Given the description of an element on the screen output the (x, y) to click on. 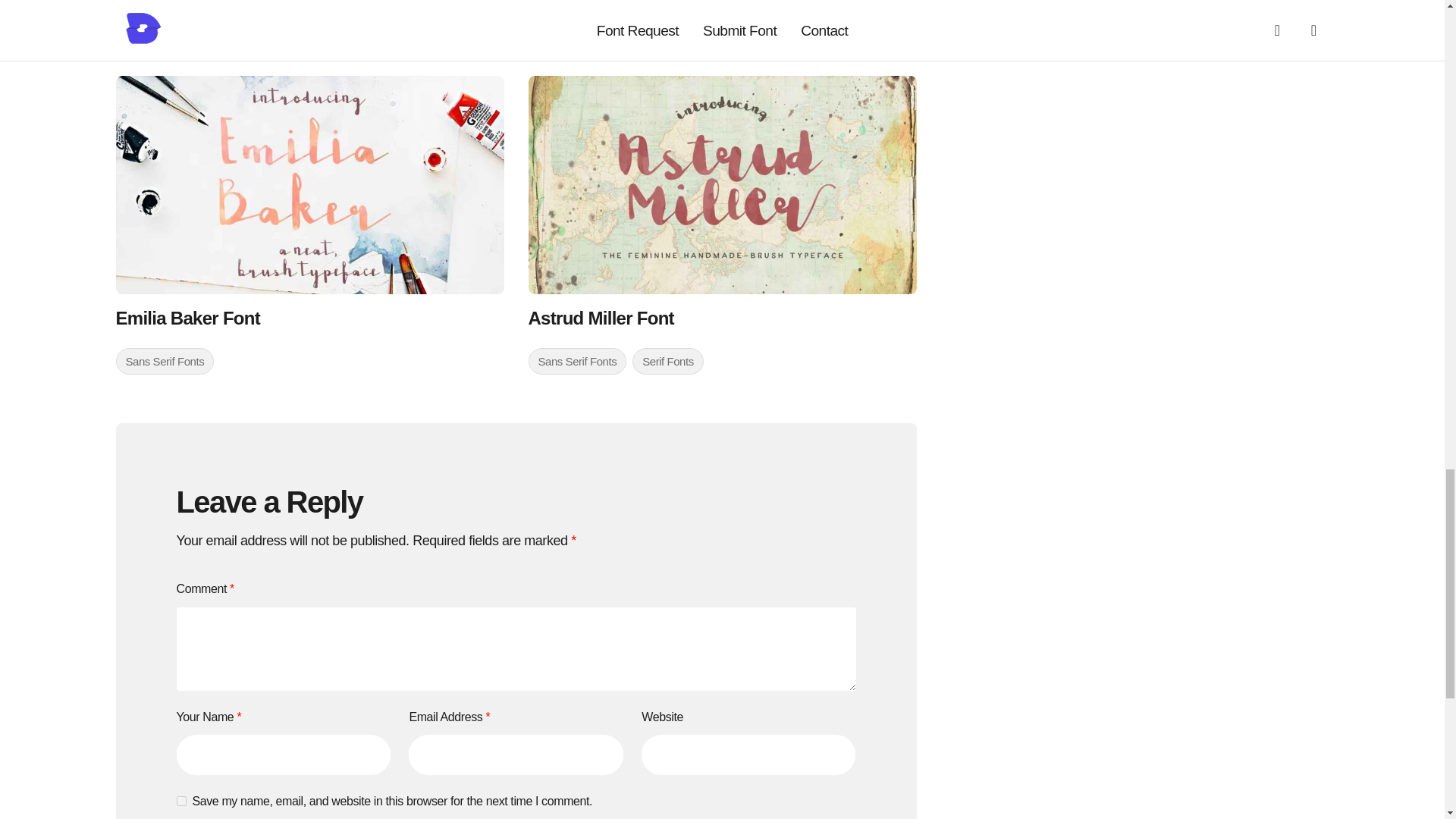
Emilia Baker Font (309, 185)
Astrud Miller Font (721, 185)
Serif Fonts (255, 7)
yes (181, 800)
Sans Serif Fonts (164, 7)
